Given the description of an element on the screen output the (x, y) to click on. 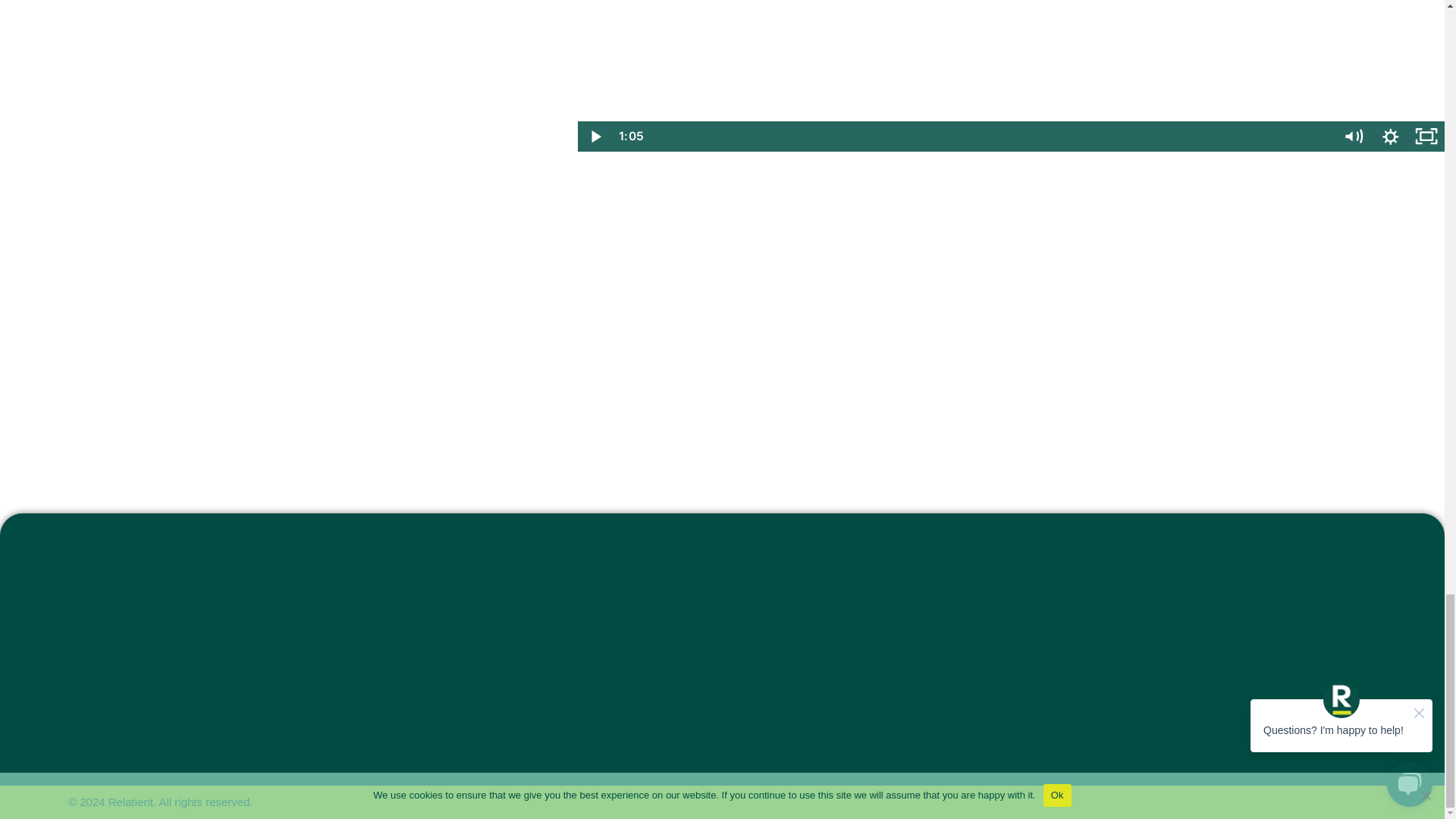
Show settings menu (1391, 136)
